Given the description of an element on the screen output the (x, y) to click on. 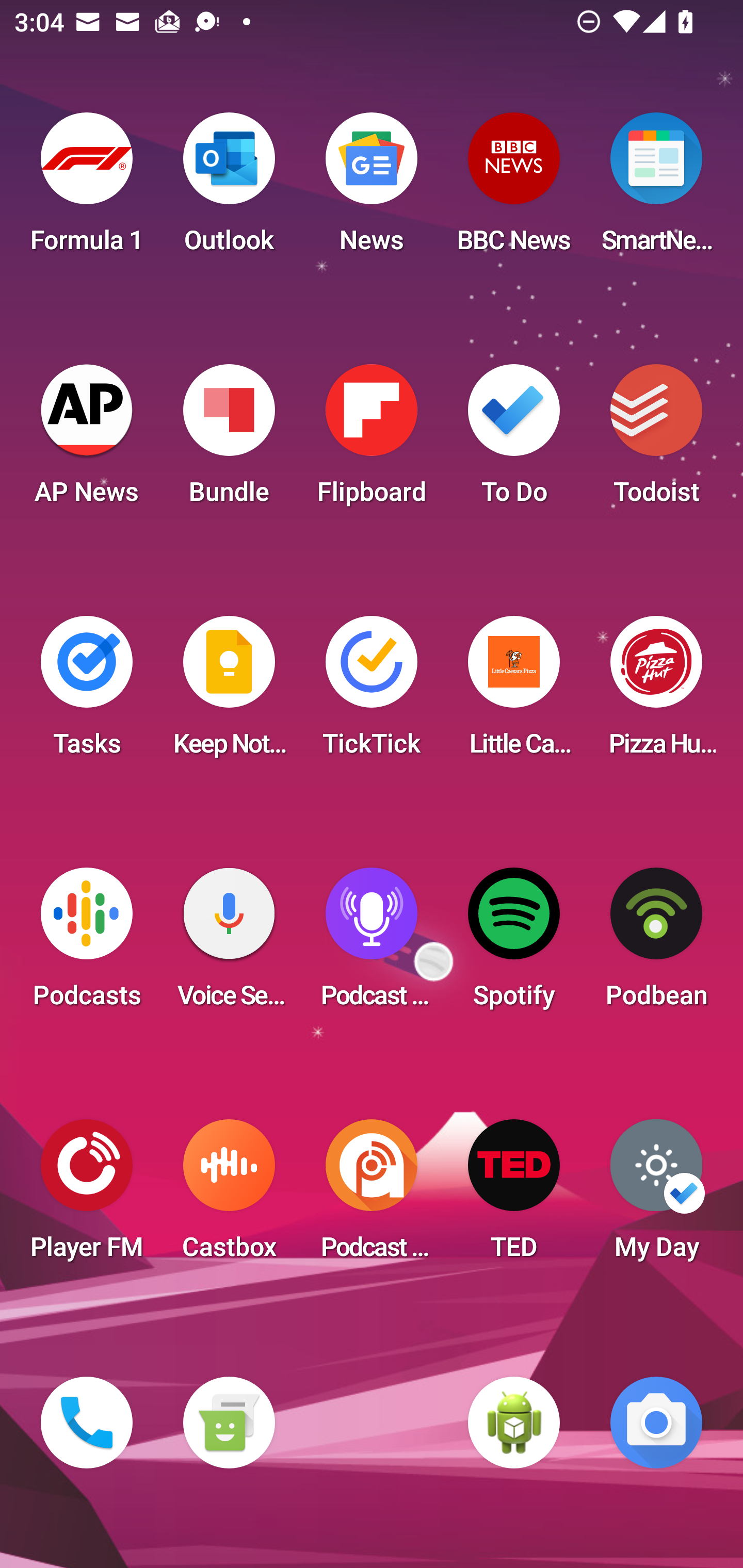
Formula 1 (86, 188)
Outlook (228, 188)
News (371, 188)
BBC News (513, 188)
SmartNews (656, 188)
AP News (86, 440)
Bundle (228, 440)
Flipboard (371, 440)
To Do (513, 440)
Todoist (656, 440)
Tasks (86, 692)
Keep Notes (228, 692)
TickTick (371, 692)
Little Caesars Pizza (513, 692)
Pizza Hut HK & Macau (656, 692)
Podcasts (86, 943)
Voice Search (228, 943)
Podcast Player (371, 943)
Spotify (513, 943)
Podbean (656, 943)
Player FM (86, 1195)
Castbox (228, 1195)
Podcast Addict (371, 1195)
TED (513, 1195)
My Day (656, 1195)
Phone (86, 1422)
Messaging (228, 1422)
WebView Browser Tester (513, 1422)
Camera (656, 1422)
